Given the description of an element on the screen output the (x, y) to click on. 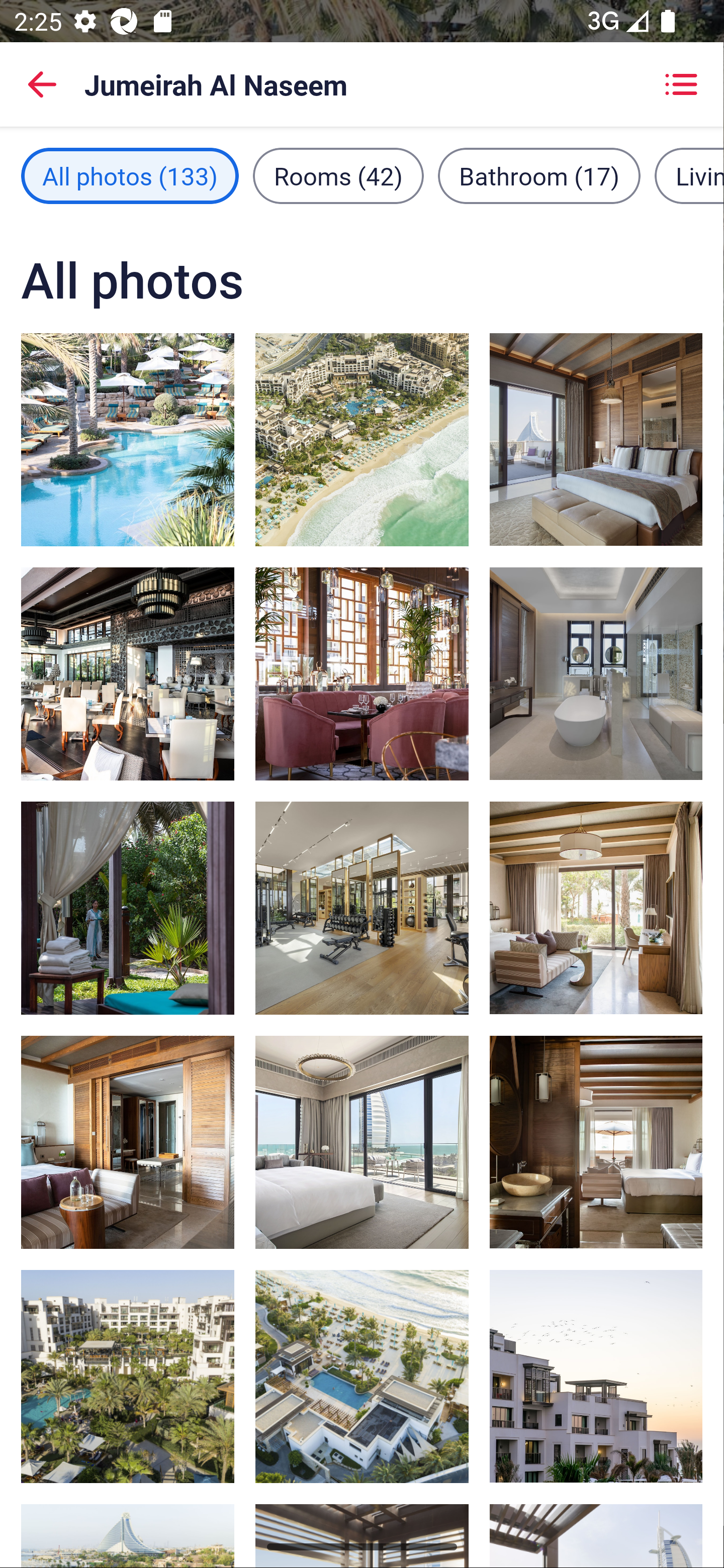
Back (42, 84)
Showing grid view (681, 84)
All photos filter, 133 images (129, 175)
Rooms filter, 42 images (337, 175)
Bathroom filter, 17 images (539, 175)
Living area filter, 14 images (688, 175)
Aerial view, image (361, 438)
Fitness facility, image (361, 907)
Aerial view, image (127, 1376)
Aerial view, image (361, 1376)
Beach/ocean view, image (595, 1376)
